Given the description of an element on the screen output the (x, y) to click on. 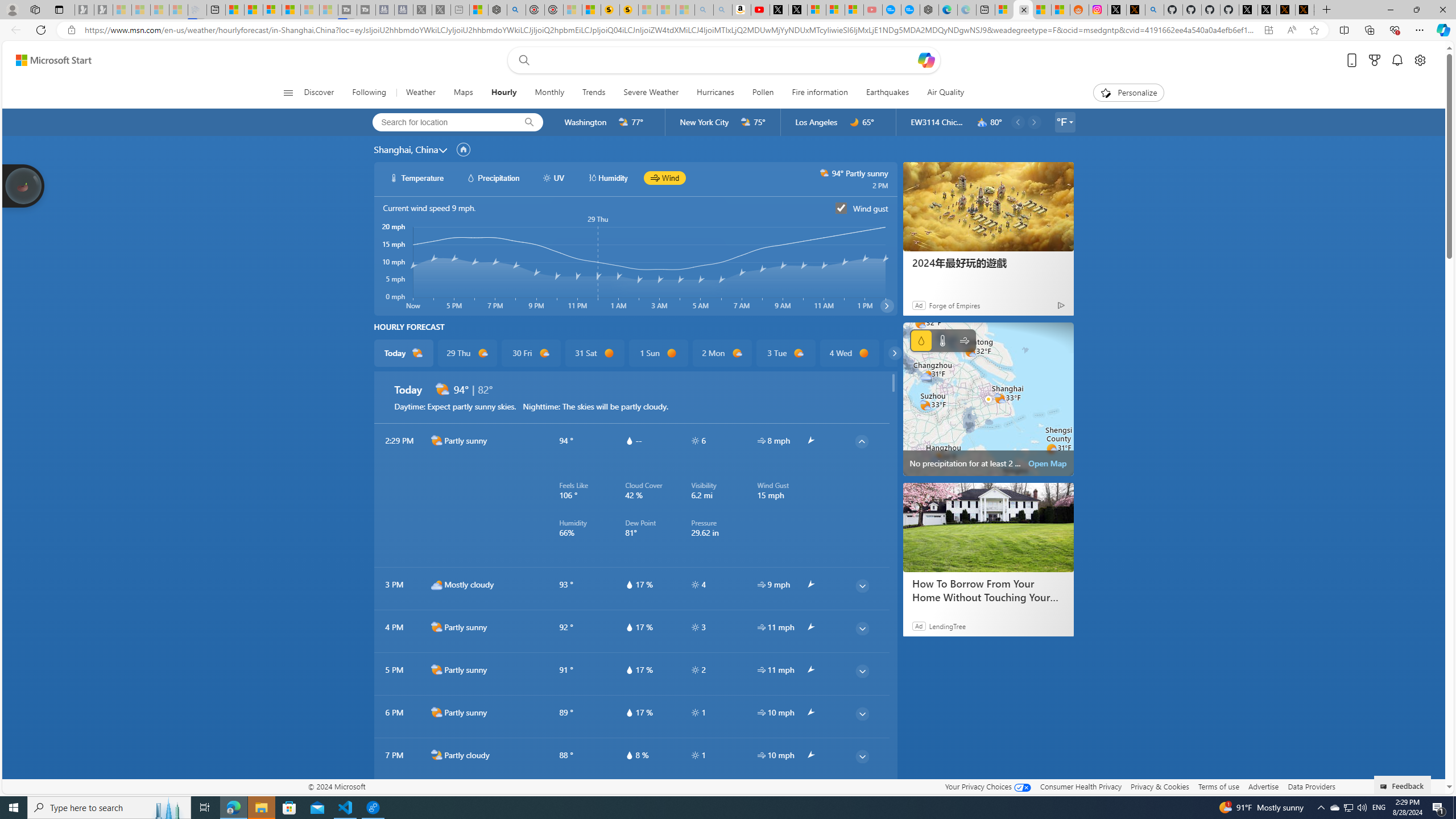
d1000 (798, 353)
